Given the description of an element on the screen output the (x, y) to click on. 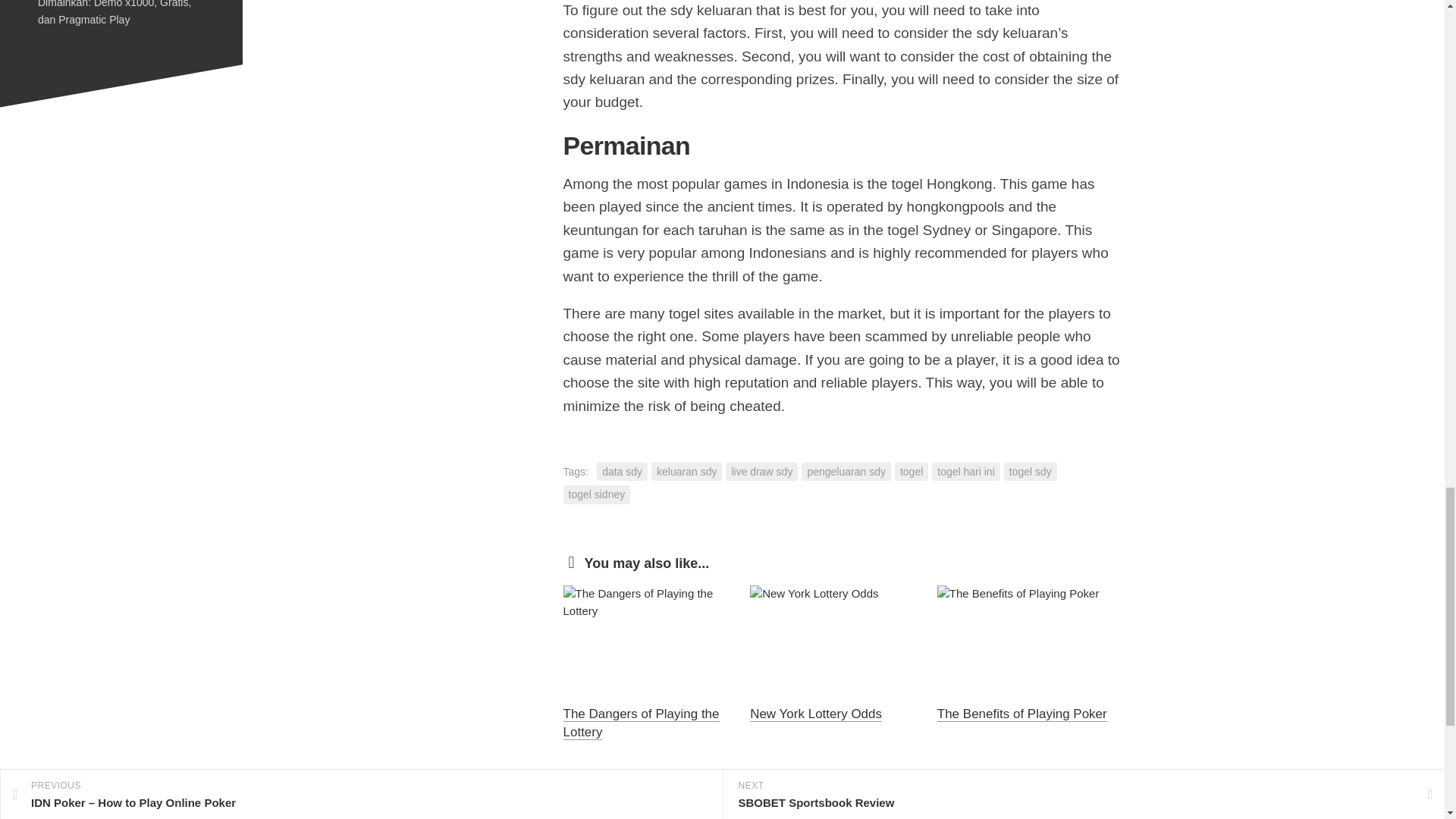
The Dangers of Playing the Lottery (640, 722)
The Benefits of Playing Poker (1021, 713)
togel sidney (596, 494)
togel hari ini (965, 471)
New York Lottery Odds (815, 713)
data sdy (621, 471)
togel (911, 471)
pengeluaran sdy (846, 471)
live draw sdy (761, 471)
keluaran sdy (686, 471)
togel sdy (1030, 471)
